Given the description of an element on the screen output the (x, y) to click on. 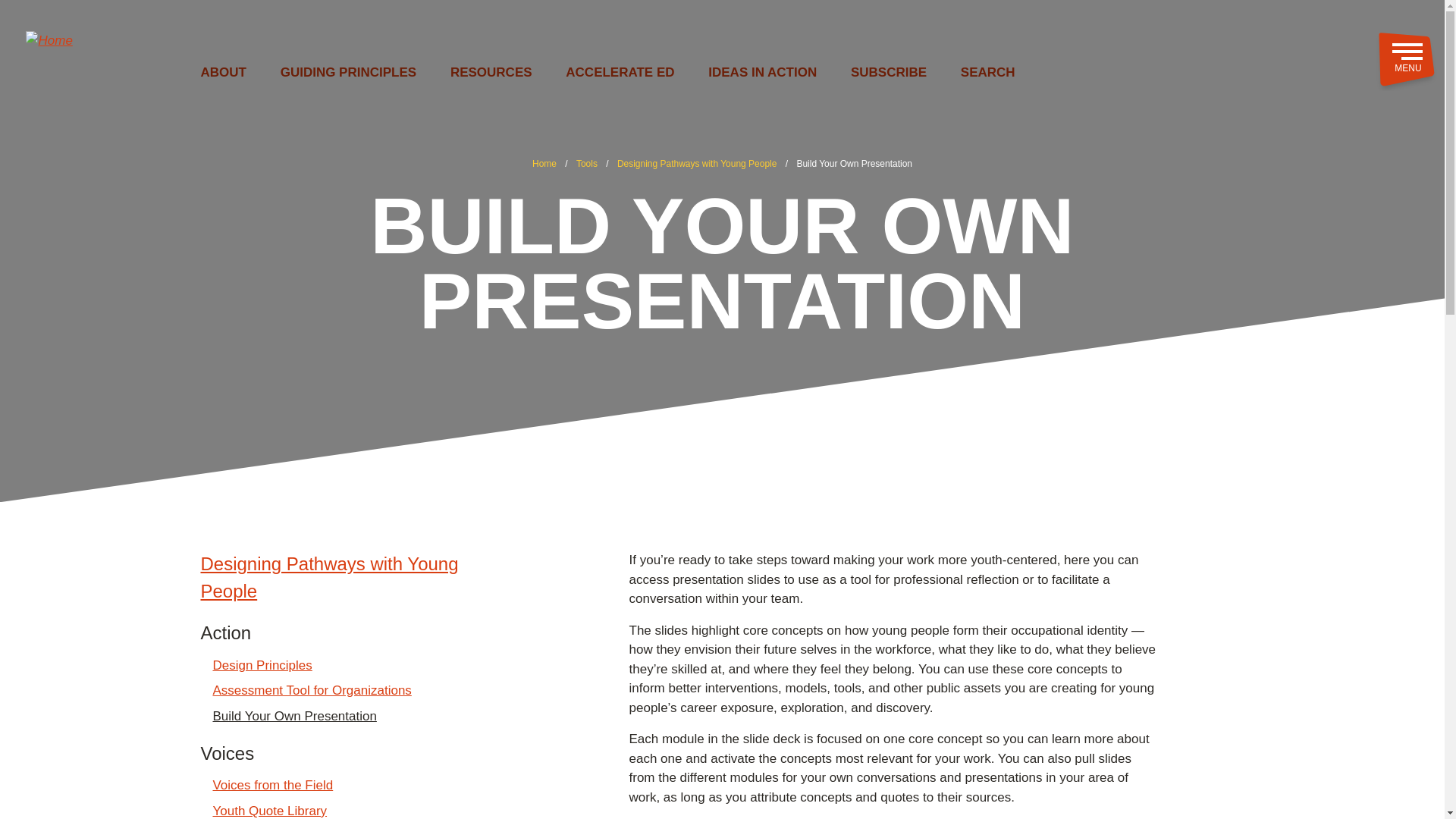
ABOUT (223, 72)
SUBSCRIBE (888, 72)
SEARCH (987, 72)
ACCELERATE ED (620, 72)
Design Principles (261, 665)
RESOURCES (490, 72)
Designing Pathways with Young People (351, 577)
Youth Quote Library (269, 810)
MENU (1406, 60)
Home (543, 163)
Home (331, 39)
Voices from the Field (272, 785)
IDEAS IN ACTION (761, 72)
GUIDING PRINCIPLES (348, 72)
Build Your Own Presentation (293, 716)
